Given the description of an element on the screen output the (x, y) to click on. 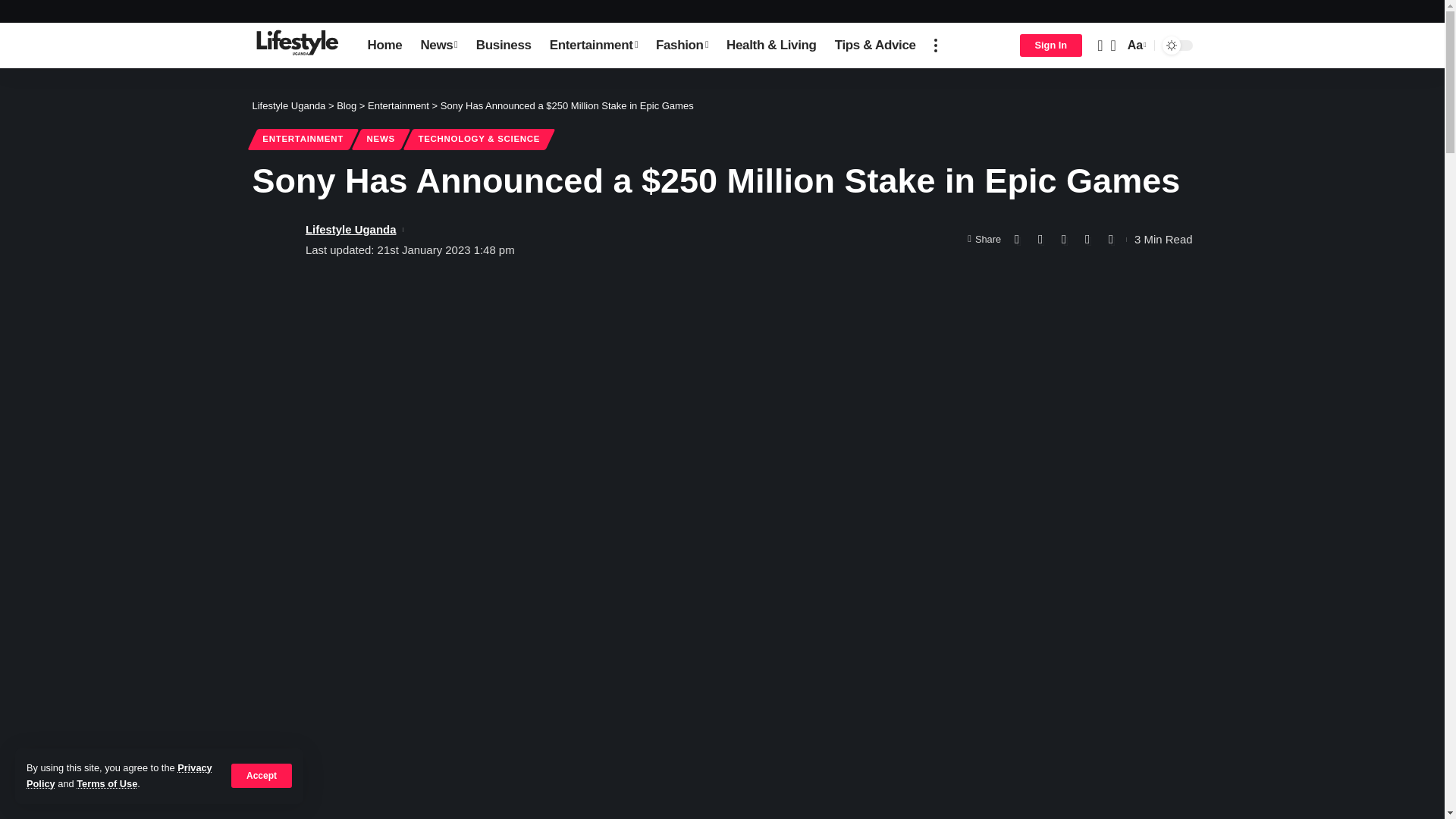
Entertainment (593, 44)
Privacy Policy (119, 775)
News (437, 44)
Lifestyle Uganda (296, 44)
Home (384, 44)
Terms of Use (106, 783)
Business (503, 44)
Go to Blog. (346, 105)
Go to Lifestyle Uganda. (287, 105)
Go to the Entertainment Category archives. (398, 105)
Accept (261, 775)
